Given the description of an element on the screen output the (x, y) to click on. 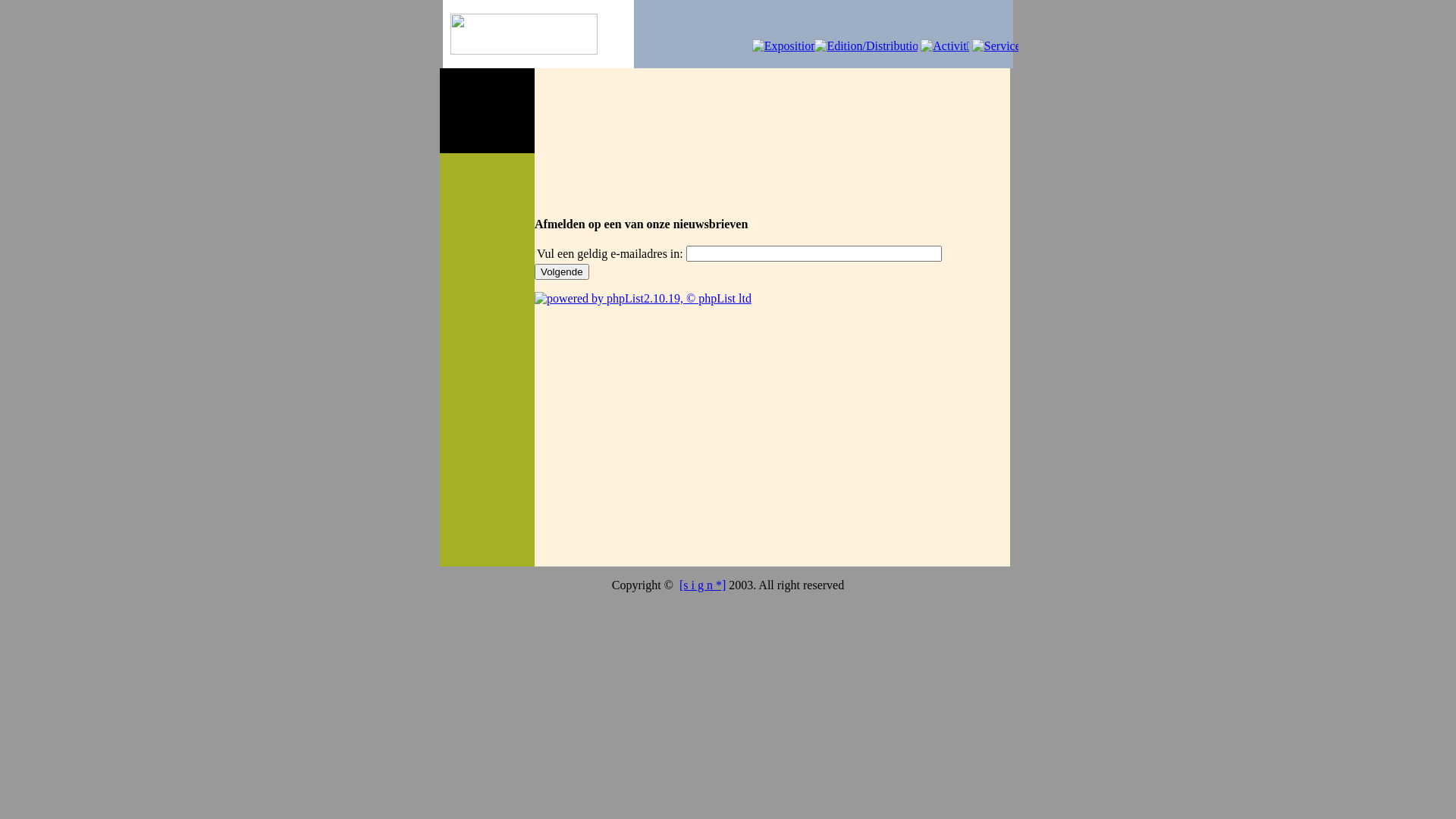
[s i g n *] Element type: text (702, 584)
Volgende Element type: text (561, 271)
